Given the description of an element on the screen output the (x, y) to click on. 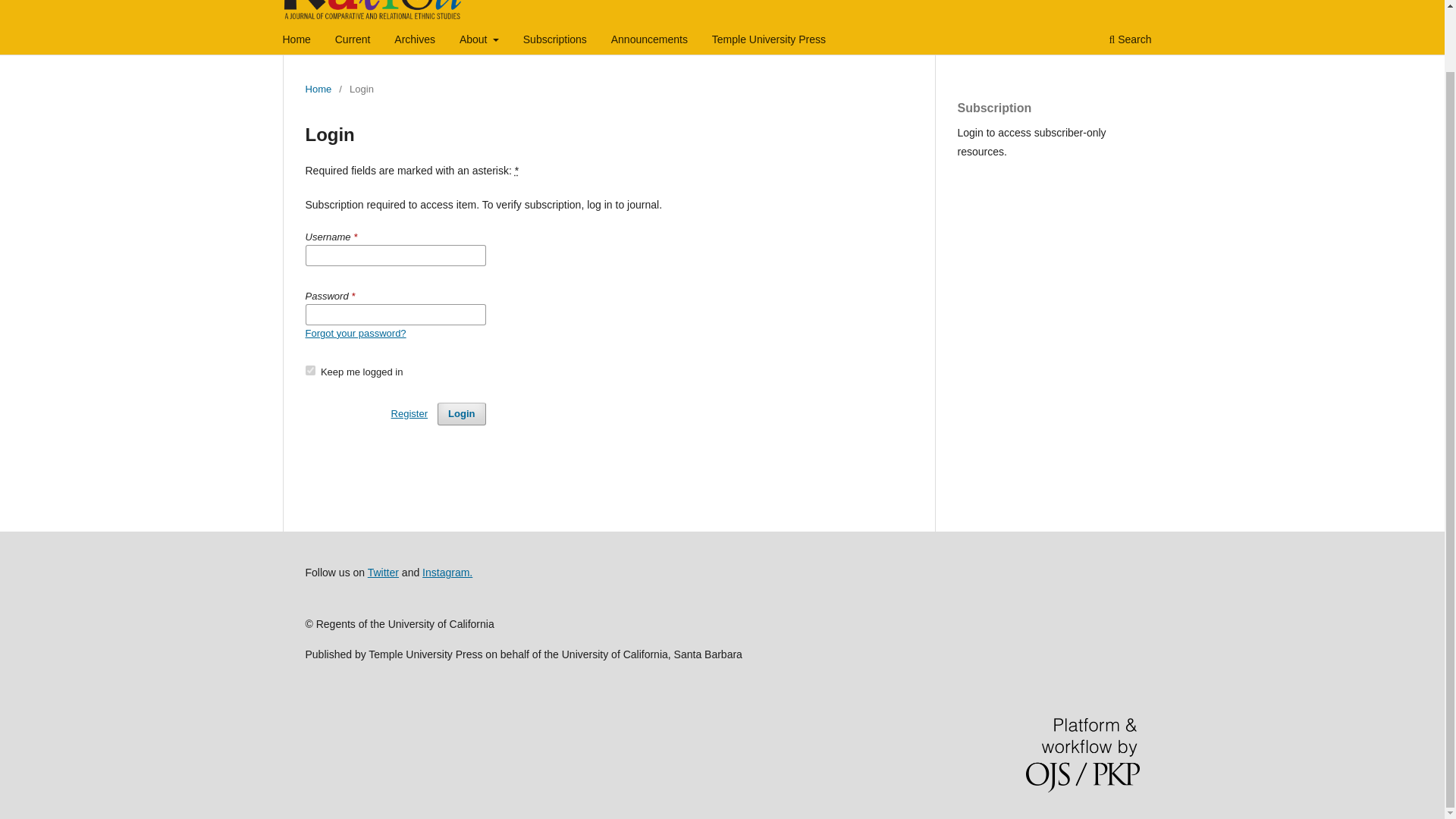
Archives (414, 40)
Subscriptions (555, 40)
required (516, 170)
Forgot your password? (355, 333)
Twitter (383, 572)
Temple University Press (768, 40)
Announcements (649, 40)
Search (1129, 40)
Register (409, 413)
Home (317, 89)
Login (461, 413)
About (478, 40)
Instagram. (446, 572)
Home (296, 40)
Current (352, 40)
